Given the description of an element on the screen output the (x, y) to click on. 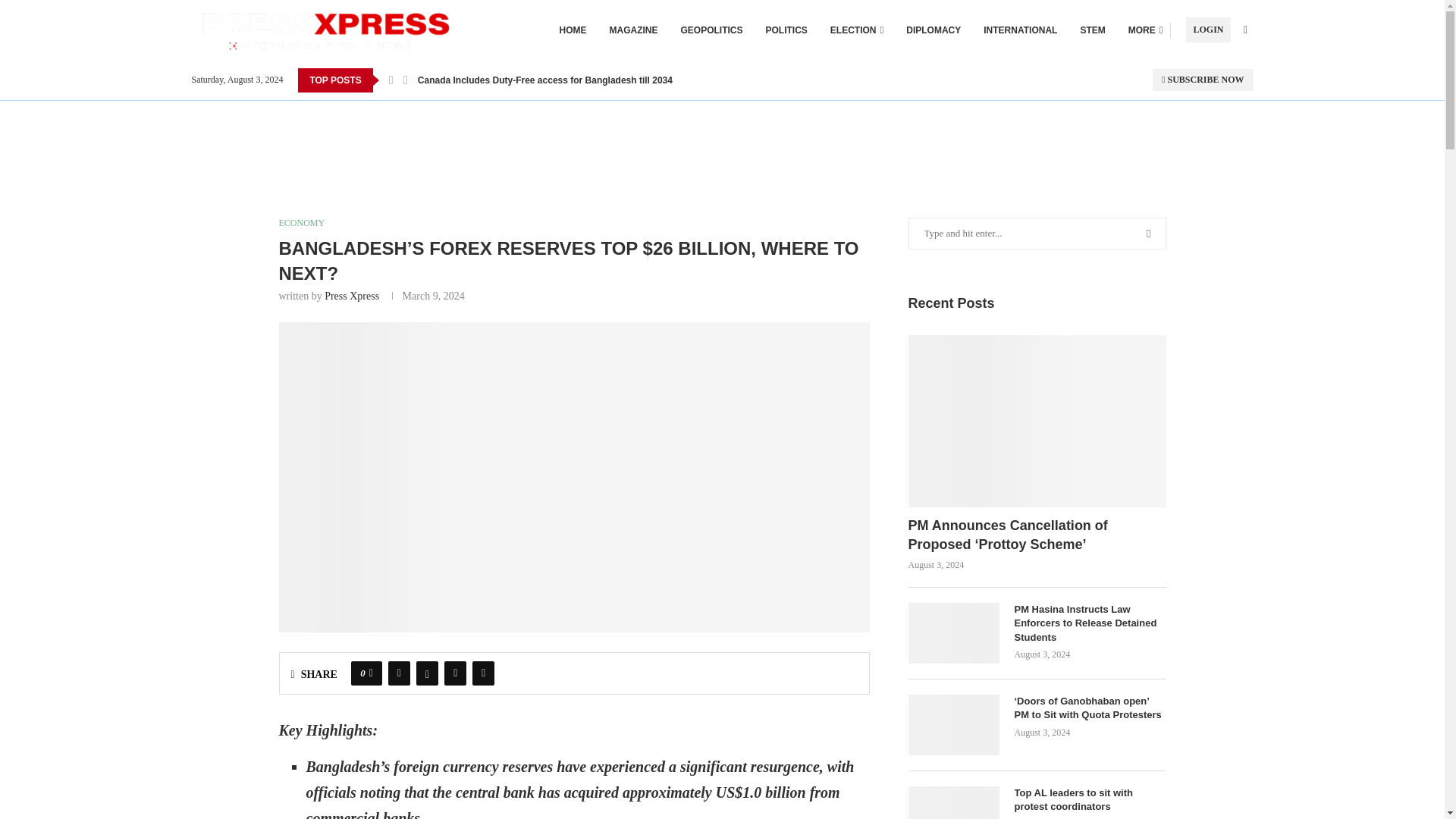
GEOPOLITICS (711, 30)
POLITICS (786, 30)
DIPLOMACY (932, 30)
MAGAZINE (634, 30)
INTERNATIONAL (1020, 30)
ELECTION (856, 30)
